Given the description of an element on the screen output the (x, y) to click on. 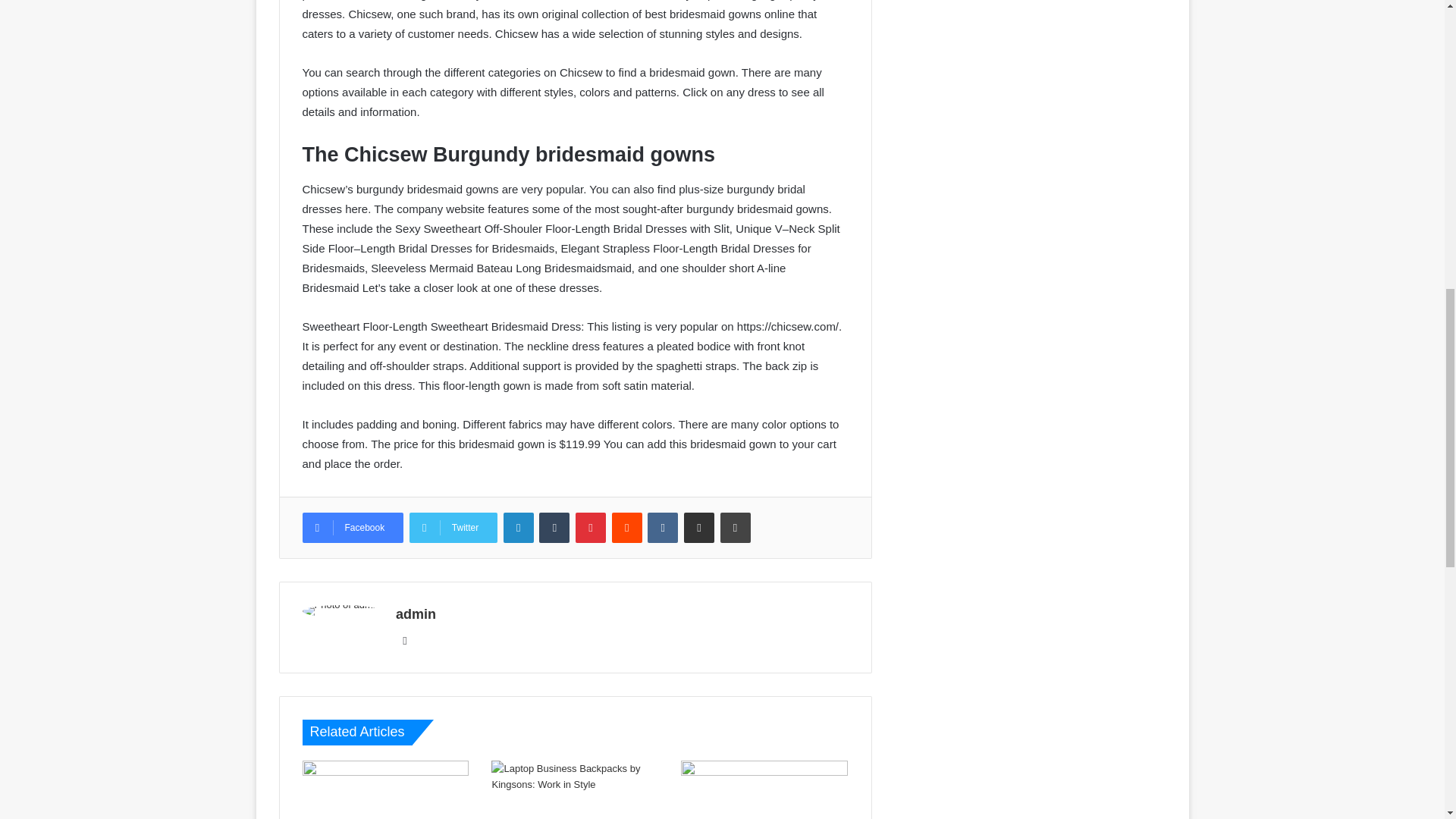
Tumblr (553, 527)
Twitter (453, 527)
Reddit (626, 527)
Facebook (352, 527)
Website (404, 640)
Reddit (626, 527)
LinkedIn (518, 527)
VKontakte (662, 527)
Share via Email (699, 527)
Twitter (453, 527)
